Given the description of an element on the screen output the (x, y) to click on. 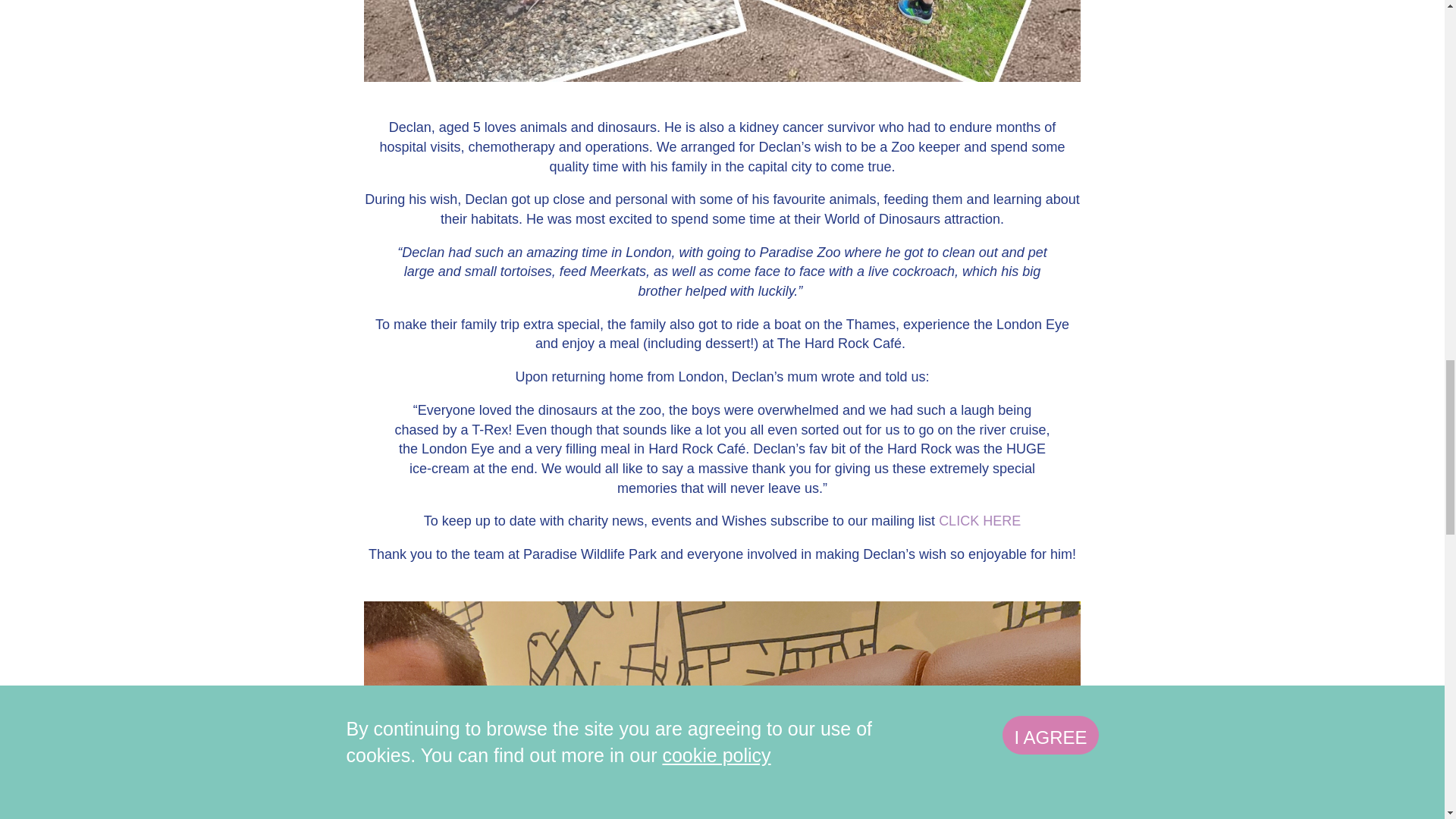
CLICK HERE (979, 520)
